Given the description of an element on the screen output the (x, y) to click on. 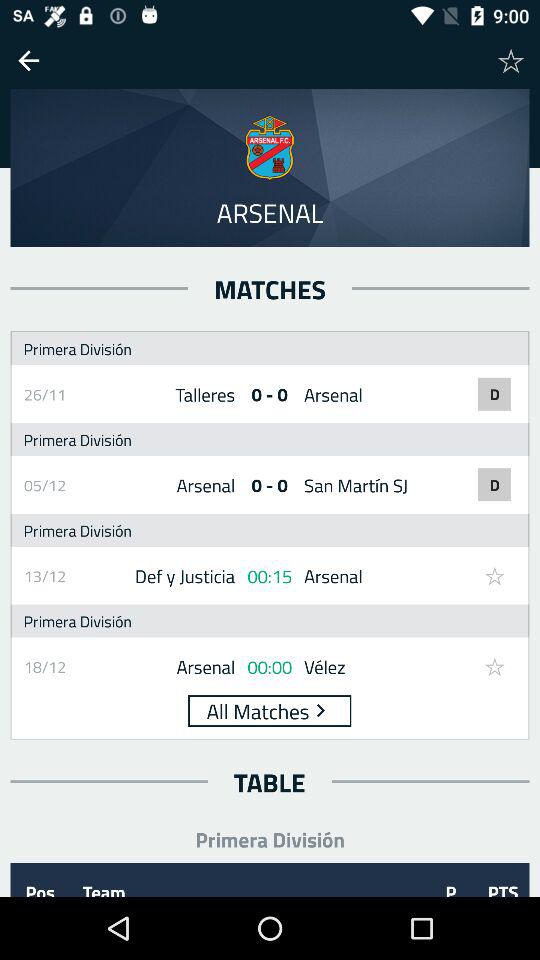
turn on item at the top right corner (511, 60)
